Given the description of an element on the screen output the (x, y) to click on. 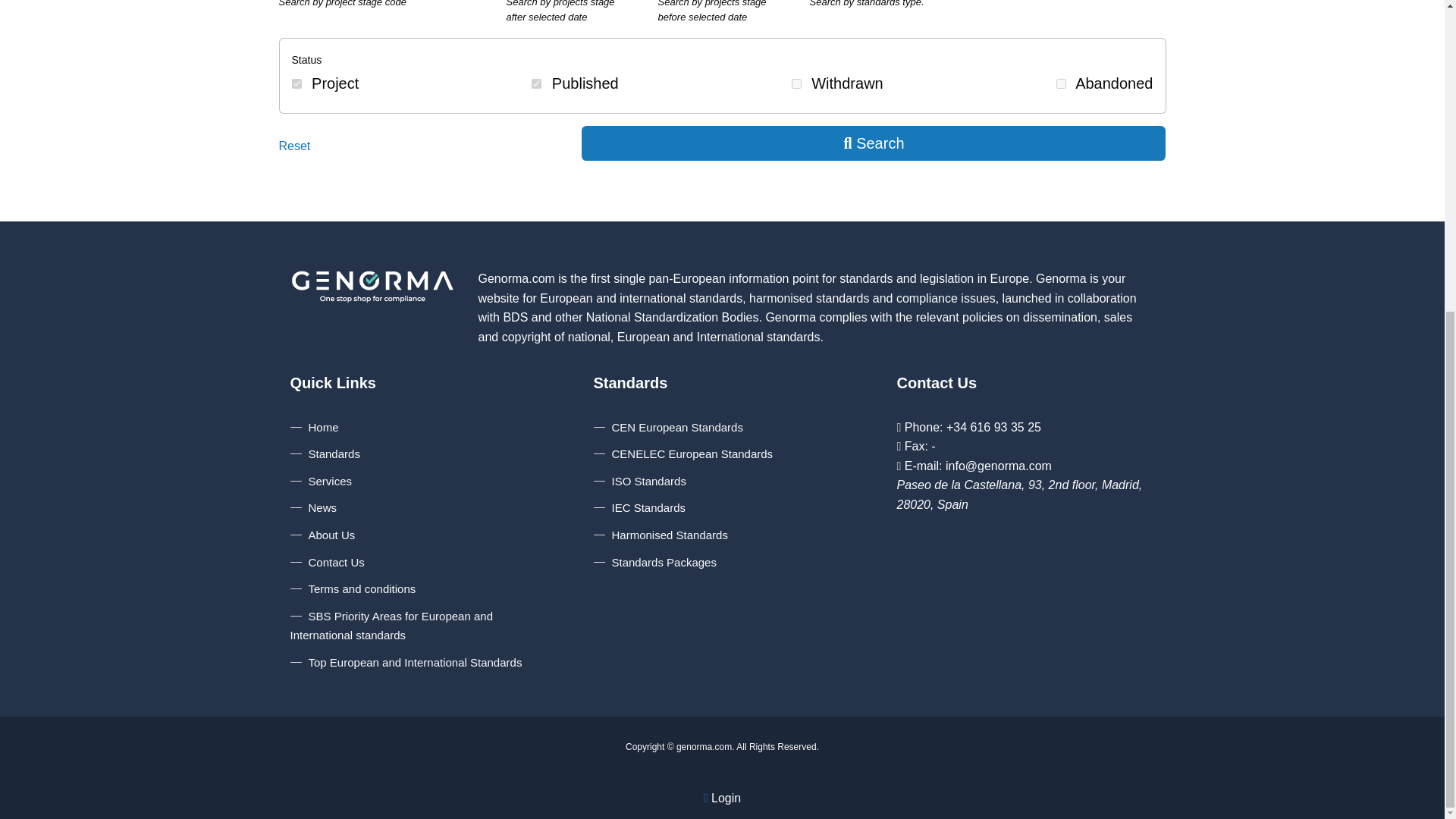
About Us (322, 534)
Contact Us (327, 562)
Search (873, 143)
WITHDRAWN (797, 83)
Standards (324, 453)
PUBLISHED (536, 83)
News (313, 507)
Home (314, 427)
ABANDON (1061, 83)
Reset (295, 145)
Services (320, 481)
